Given the description of an element on the screen output the (x, y) to click on. 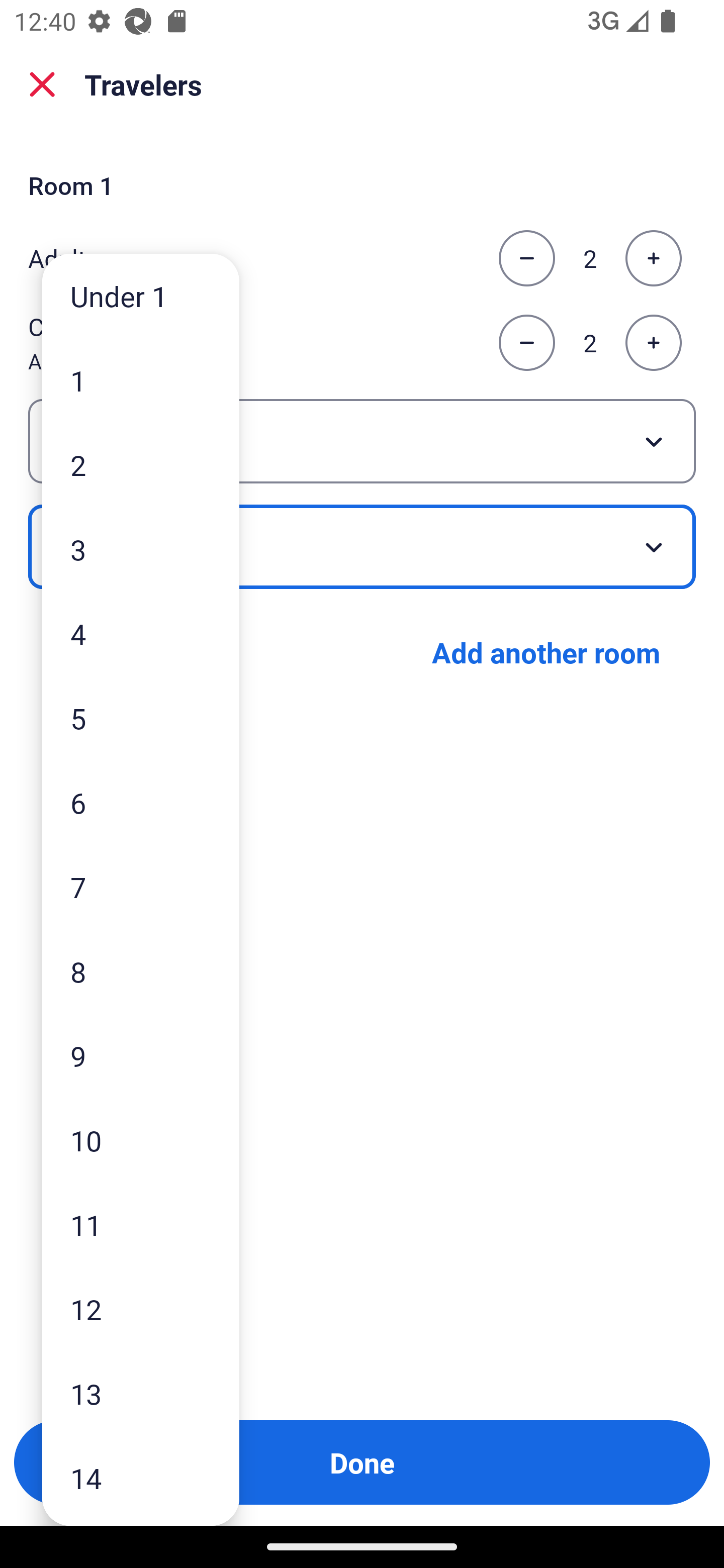
Under 1 (140, 296)
1 (140, 380)
2 (140, 464)
3 (140, 548)
4 (140, 633)
5 (140, 717)
6 (140, 802)
7 (140, 887)
8 (140, 970)
9 (140, 1054)
10 (140, 1139)
11 (140, 1224)
12 (140, 1308)
13 (140, 1393)
14 (140, 1478)
